Given the description of an element on the screen output the (x, y) to click on. 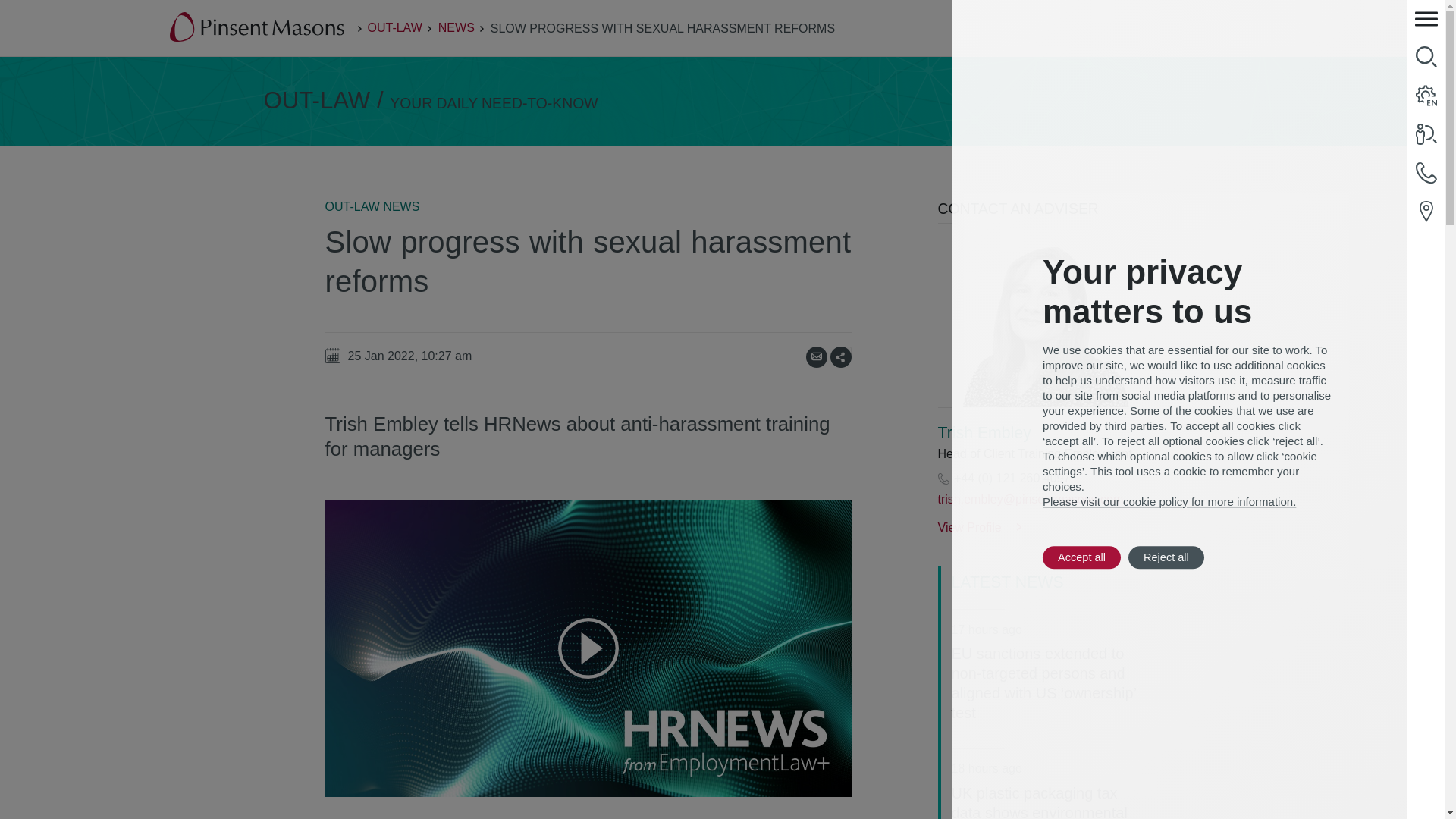
NEWS (456, 27)
Email (816, 356)
Pinsent Masons (257, 28)
OUT-LAW (394, 27)
on (846, 351)
